Given the description of an element on the screen output the (x, y) to click on. 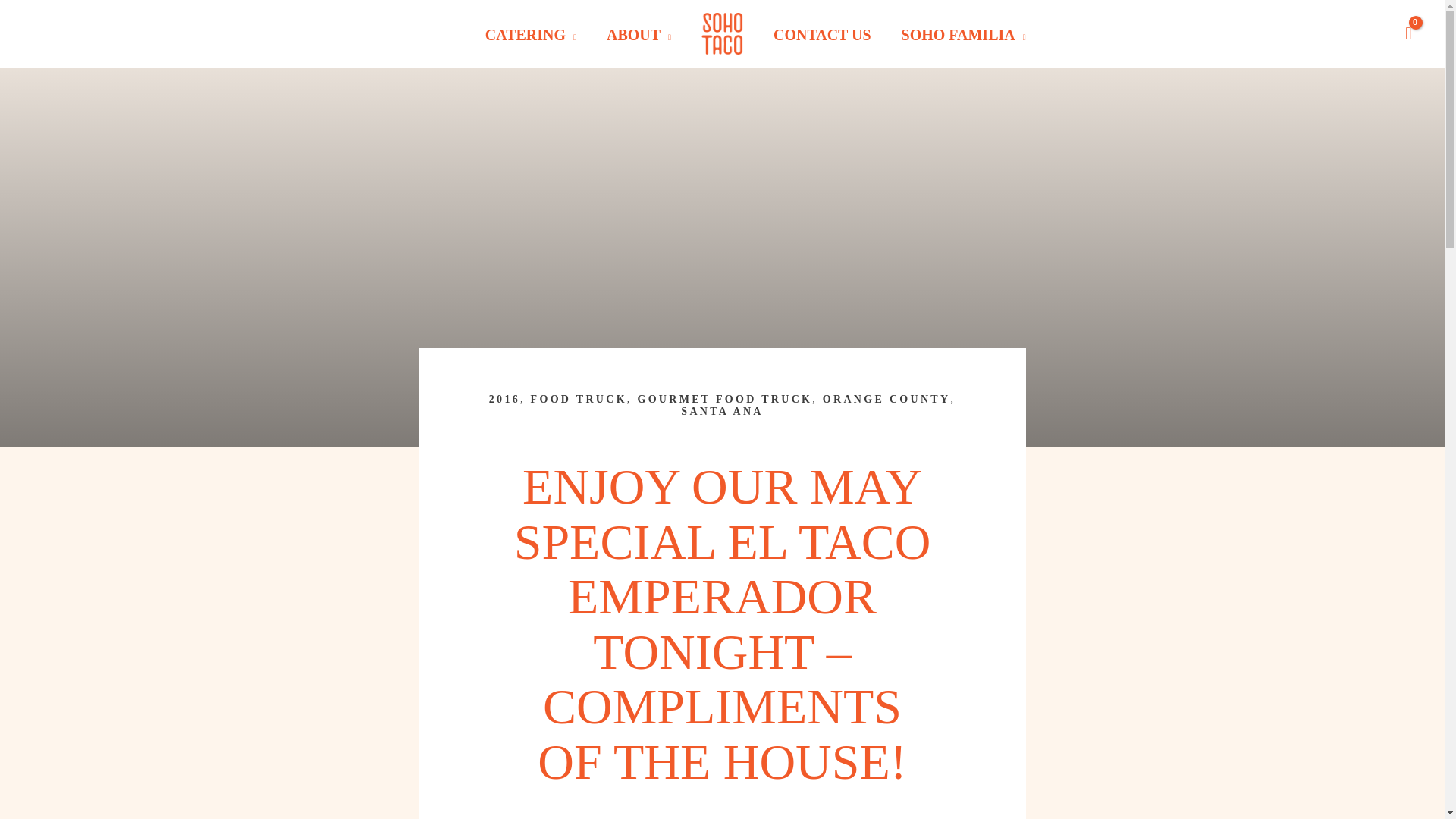
SOHO FAMILIA (963, 35)
ABOUT (638, 35)
CATERING (530, 35)
CONTACT US (822, 35)
